Given the description of an element on the screen output the (x, y) to click on. 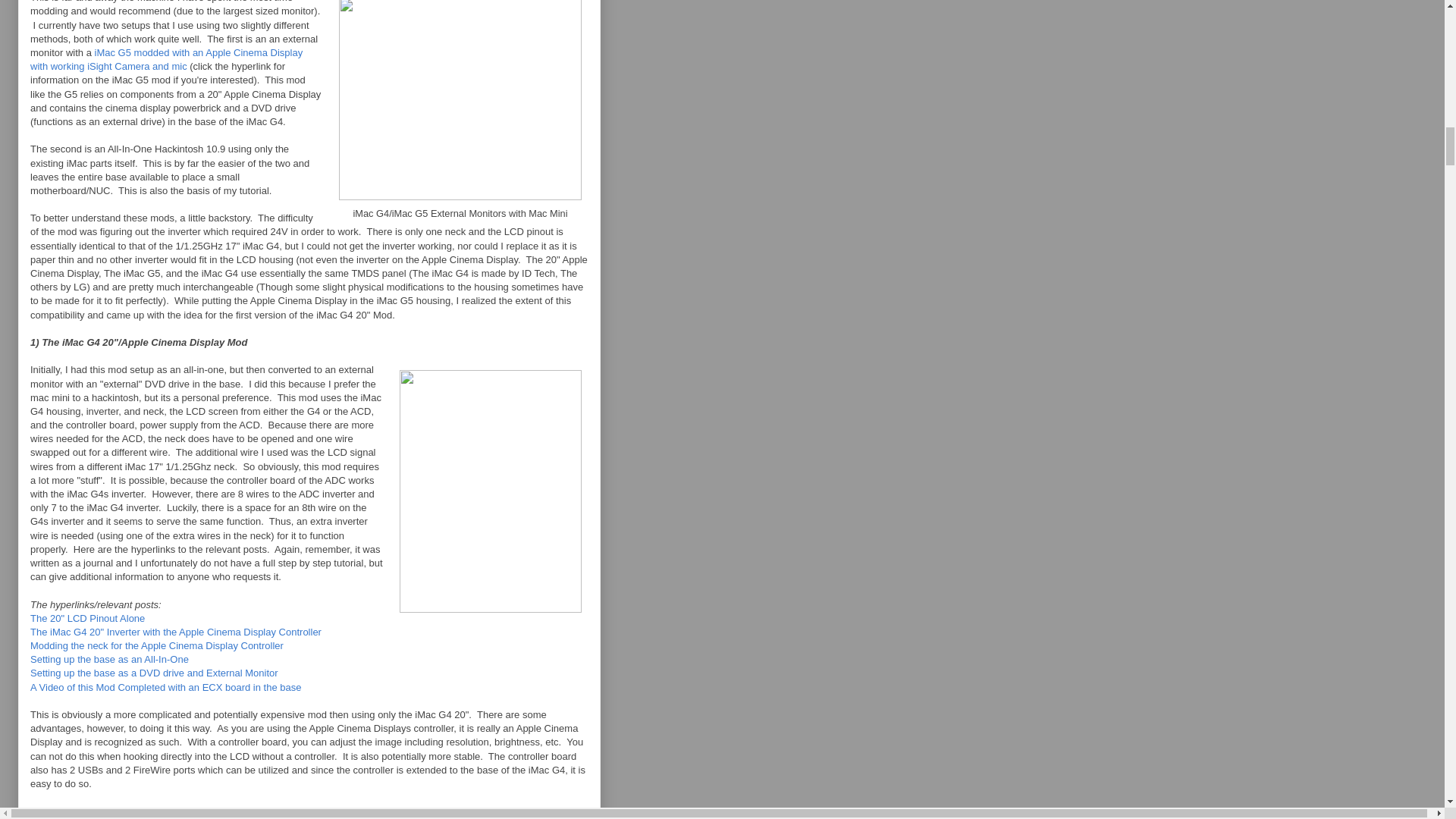
Modding the neck for the Apple Cinema Display Controller (156, 645)
Setting up the base as a DVD drive and External Monitor (154, 672)
Setting up the base as an All-In-One (109, 659)
A Video of this Mod Completed with an ECX board in the base (165, 686)
The 20" LCD Pinout Alone (87, 618)
